Given the description of an element on the screen output the (x, y) to click on. 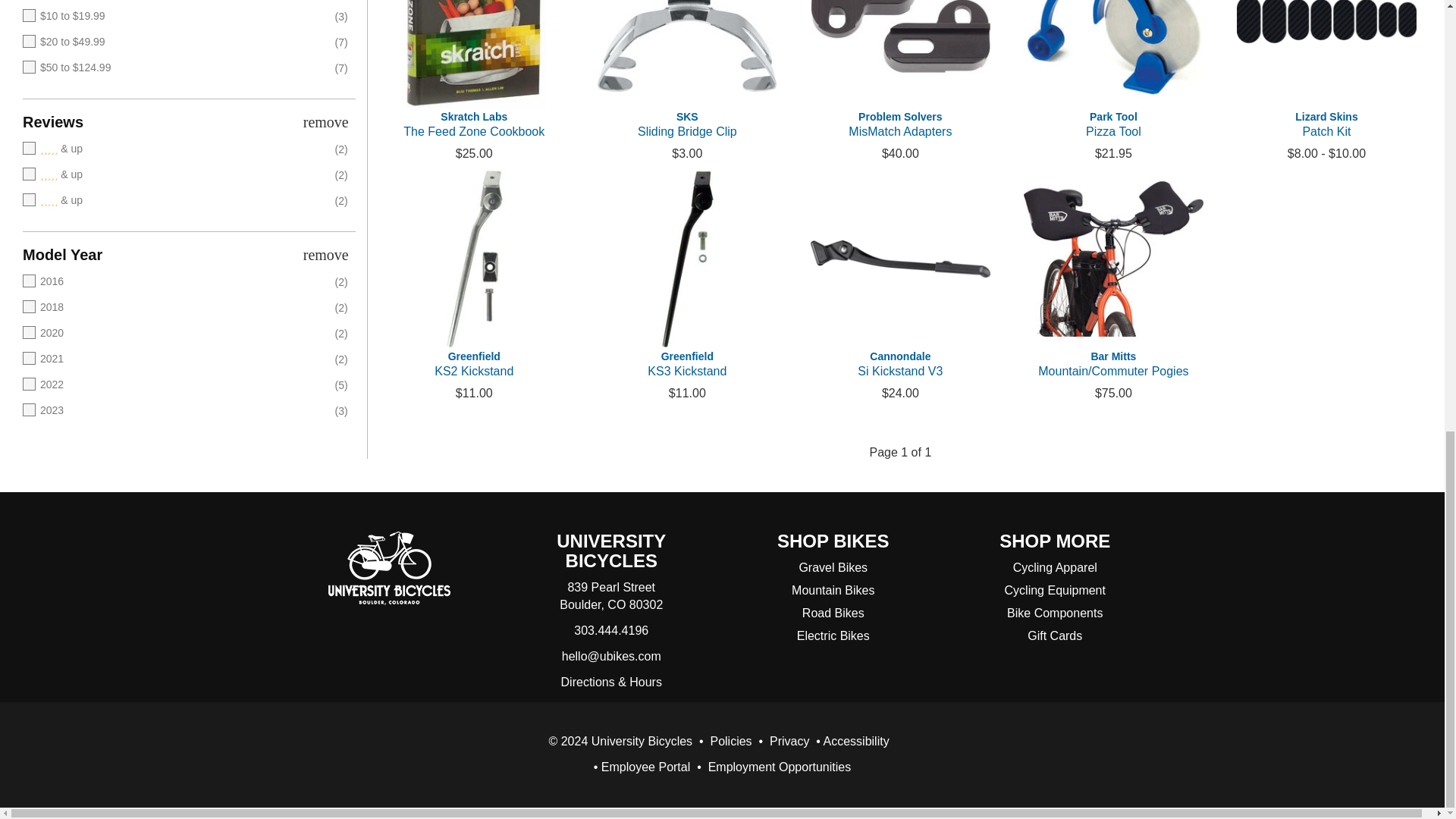
2 (168, 174)
1 (168, 200)
3 (168, 149)
